Given the description of an element on the screen output the (x, y) to click on. 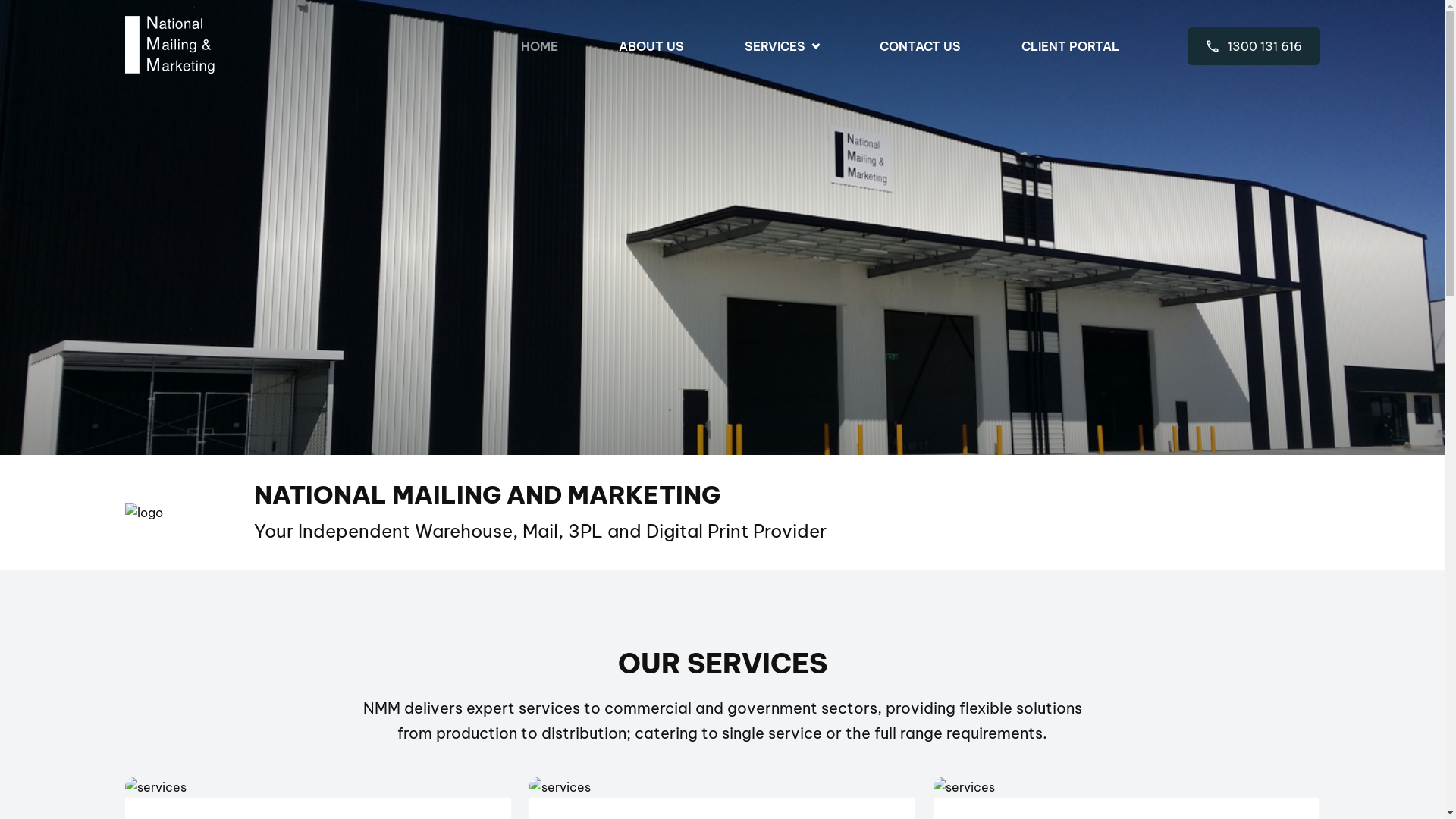
SERVICES Element type: text (781, 46)
CLIENT PORTAL Element type: text (1069, 45)
CONTACT US Element type: text (919, 45)
ABOUT US Element type: text (651, 45)
HOME Element type: text (538, 45)
1300 131 616 Element type: text (1253, 46)
